Given the description of an element on the screen output the (x, y) to click on. 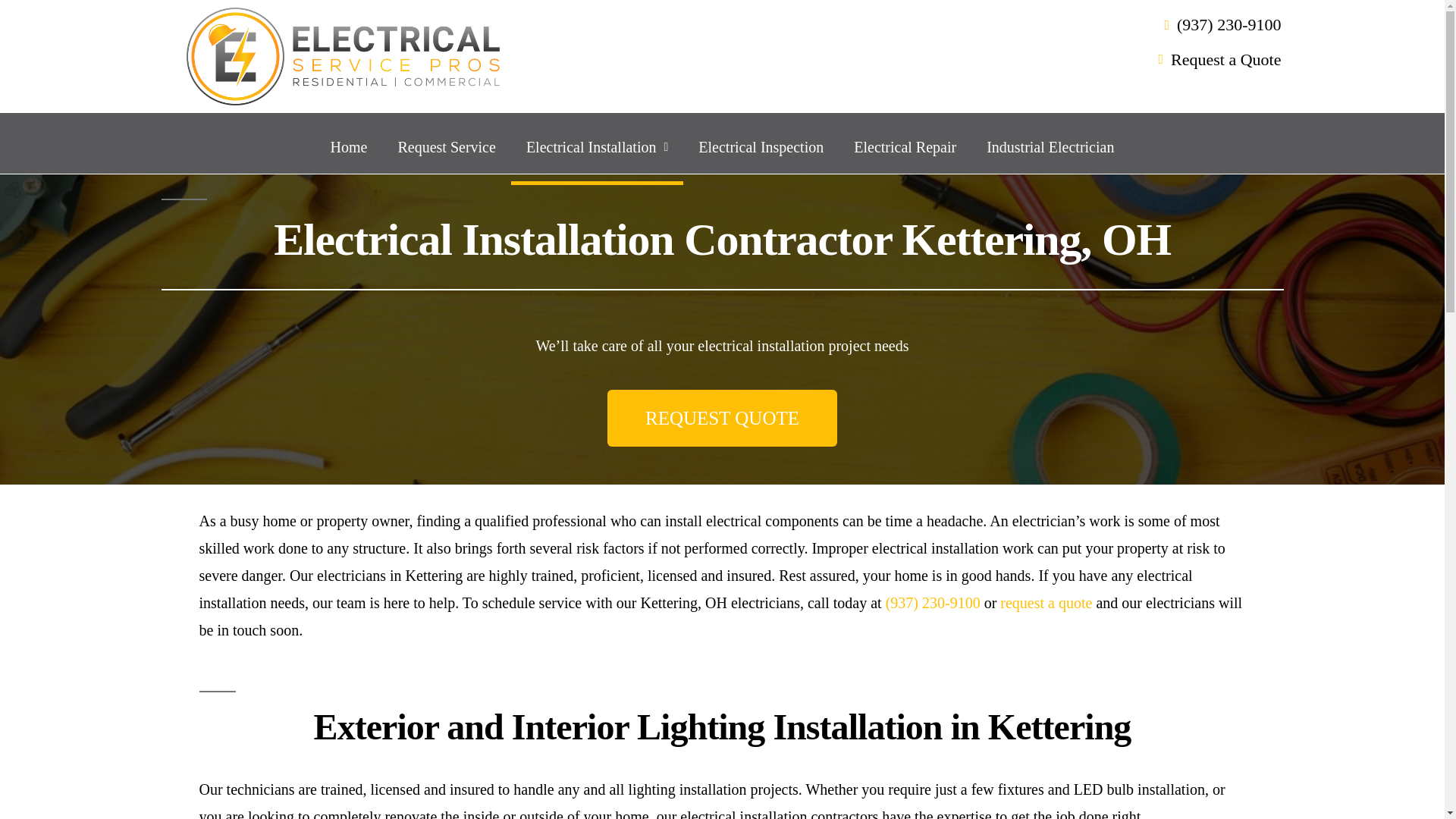
Electrical Installation (596, 146)
request a quote (1046, 602)
Electrical Inspection (760, 146)
Request a Quote (911, 60)
Request Service (446, 146)
Industrial Electrician (1050, 146)
Home (348, 146)
Electrical Repair (904, 146)
REQUEST QUOTE (722, 417)
